Given the description of an element on the screen output the (x, y) to click on. 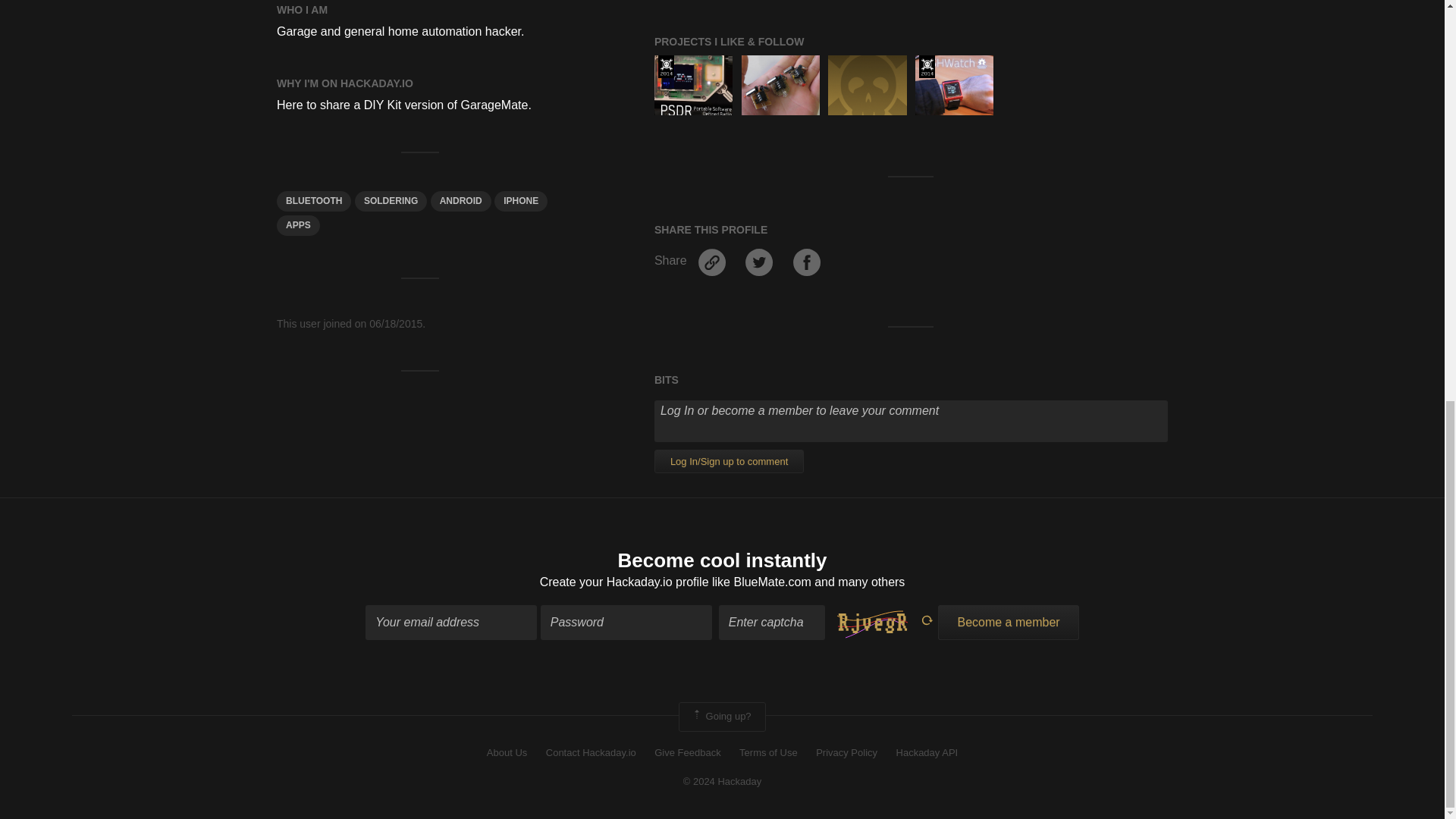
APPS (298, 225)
ANDROID (461, 200)
SOLDERING (390, 200)
PortableSDR by Michael R Colton (692, 85)
IPHONE (521, 200)
BLUETOOTH (313, 200)
Tiny robot family by shlonkin (780, 85)
